Given the description of an element on the screen output the (x, y) to click on. 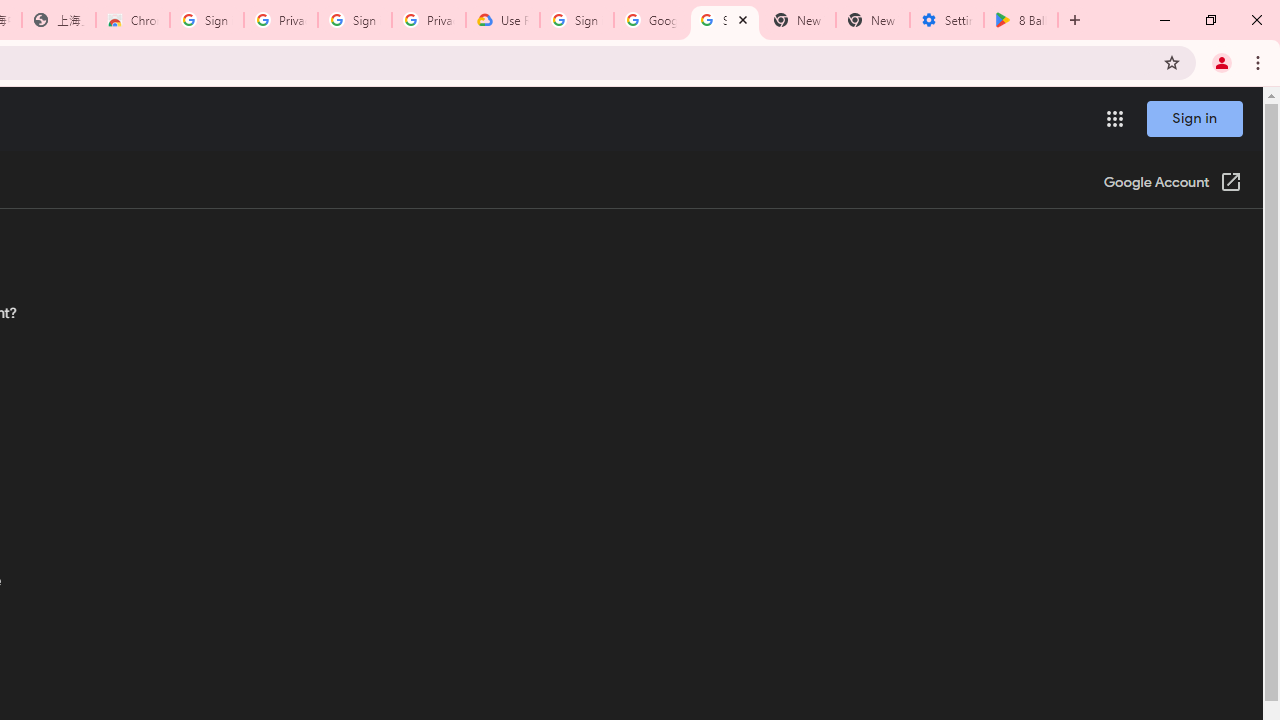
Chrome Web Store - Color themes by Chrome (133, 20)
Sign in - Google Accounts (577, 20)
Settings - System (947, 20)
Sign in - Google Accounts (207, 20)
Google Account (Open in a new window) (1172, 183)
